Given the description of an element on the screen output the (x, y) to click on. 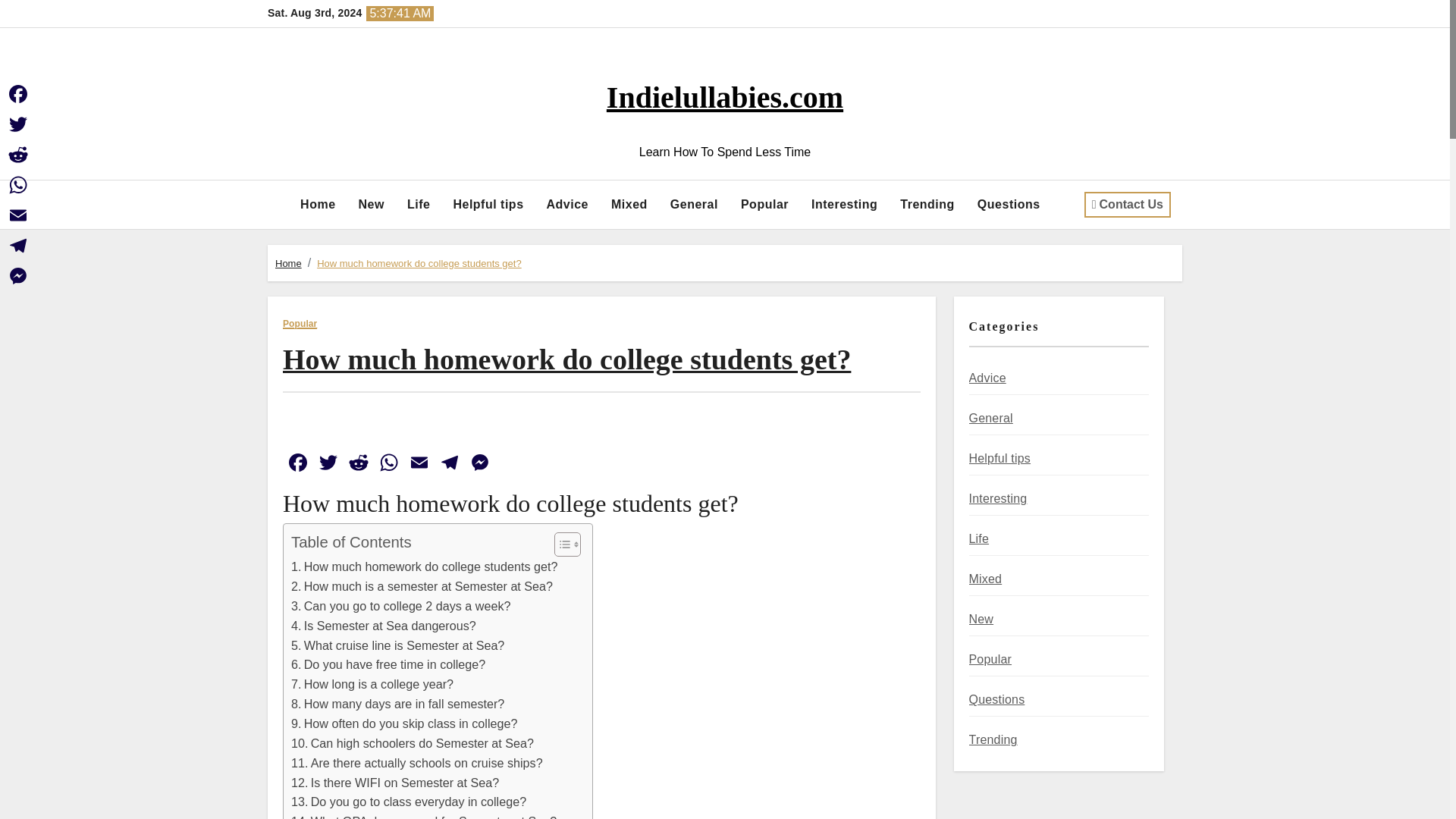
Reddit (358, 464)
Popular (764, 204)
New (371, 204)
General (694, 204)
WhatsApp (389, 464)
Questions (1008, 204)
Twitter (328, 464)
Facebook (297, 464)
Life (418, 204)
Advice (567, 204)
How much homework do college students get? (424, 567)
Interesting (843, 204)
Helpful tips (487, 204)
Telegram (448, 464)
Trending (927, 204)
